Given the description of an element on the screen output the (x, y) to click on. 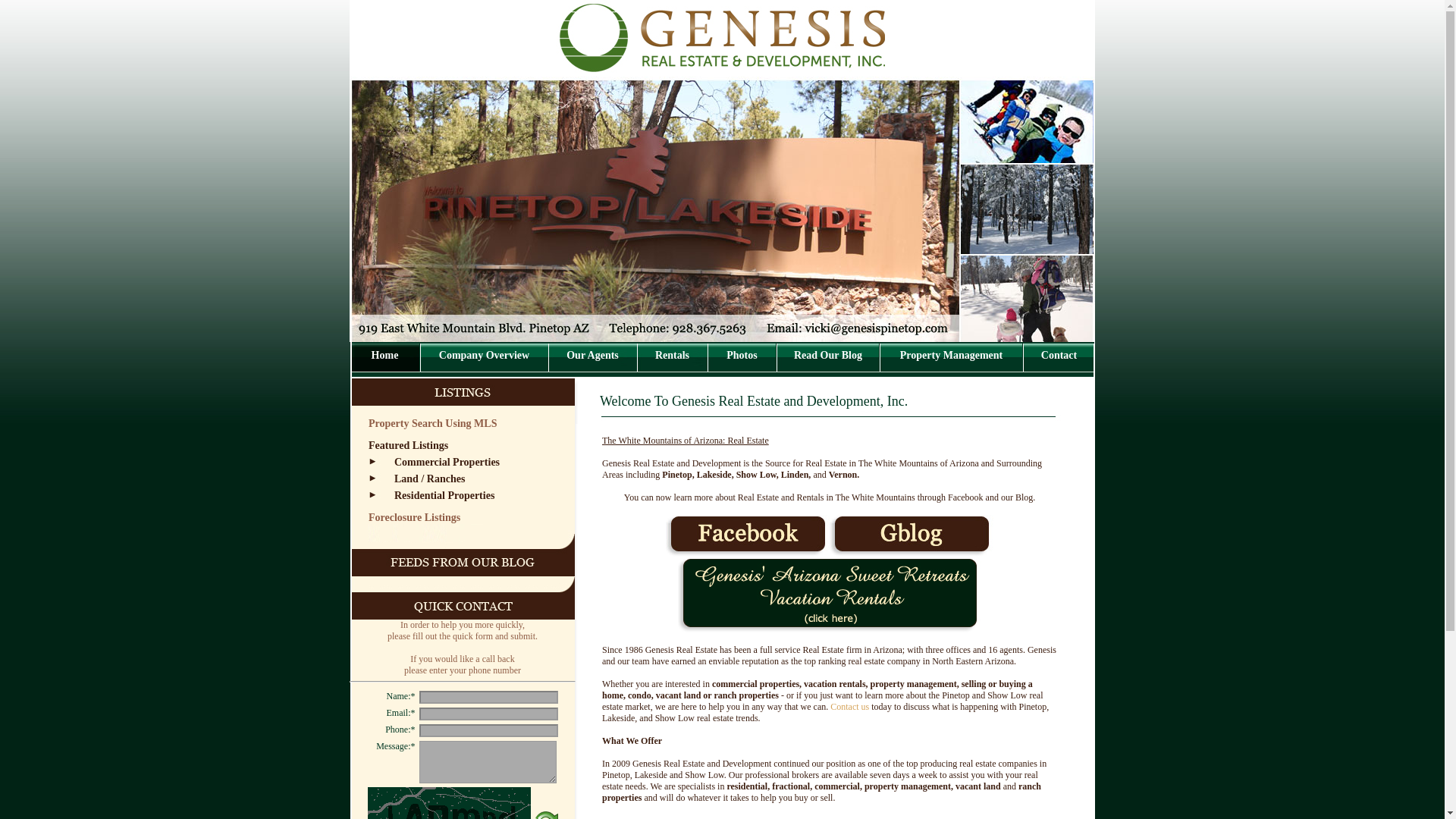
Foreclosure Listings (414, 517)
Contact (1059, 355)
Commercial Properties (433, 461)
Read Our Blog (827, 355)
Property Search Using MLS (432, 423)
Photos (741, 355)
Residential Properties (431, 495)
Home (384, 355)
Contact us (849, 706)
Property Management (951, 355)
Company Overview (484, 355)
Our Agents (592, 355)
Rentals (671, 355)
